Given the description of an element on the screen output the (x, y) to click on. 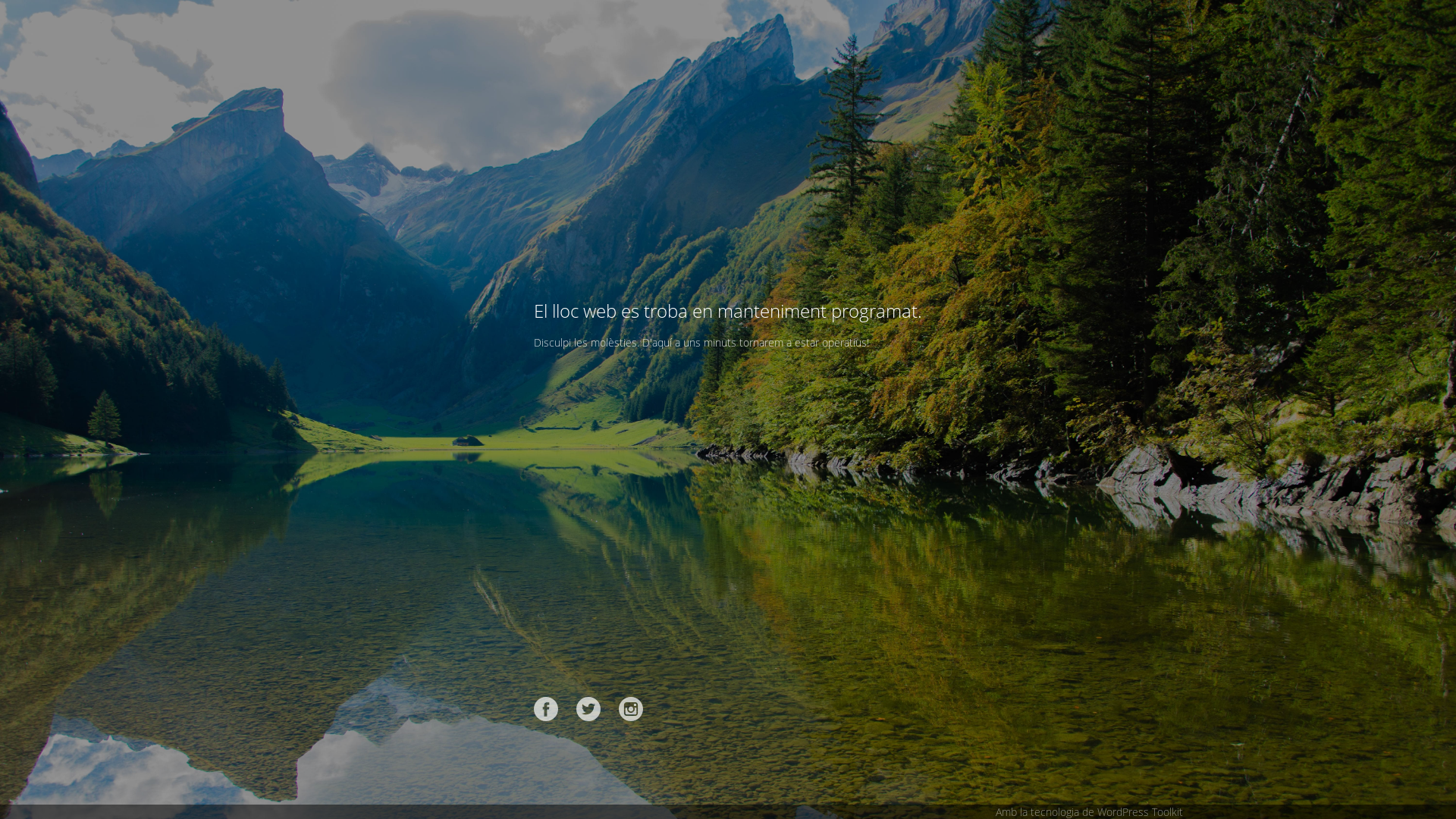
Twitter Element type: hover (588, 708)
Instagram Element type: hover (630, 708)
Facebook Element type: hover (545, 708)
